Given the description of an element on the screen output the (x, y) to click on. 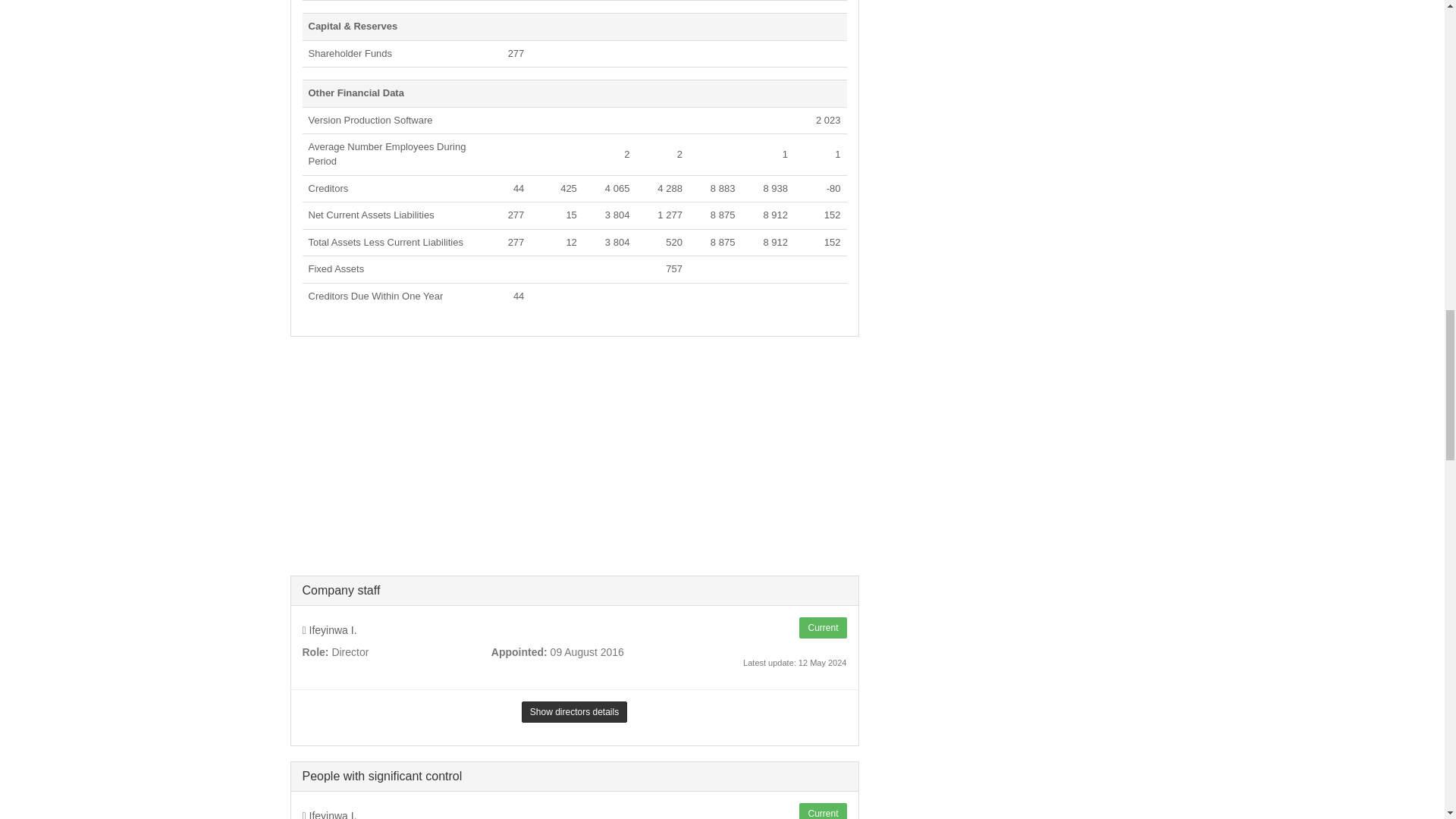
Show directors details (574, 711)
The total investment in a company made by the shareholders (349, 52)
VersionProductionSoftware (369, 120)
Creditors (327, 188)
Current (822, 811)
Current (822, 627)
AverageNumberEmployeesDuringPeriod (386, 153)
